Given the description of an element on the screen output the (x, y) to click on. 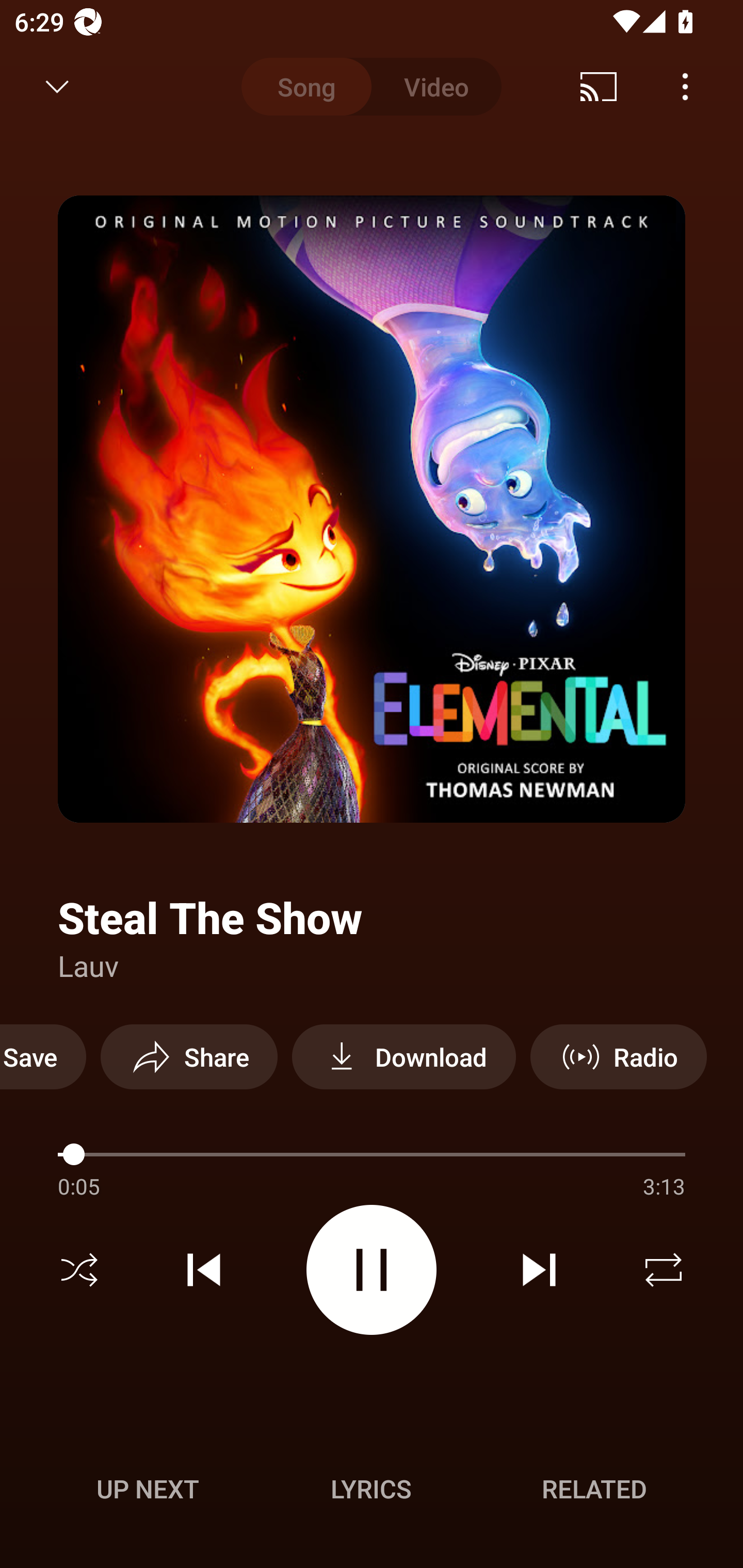
Minimize (57, 86)
Cast. Disconnected (598, 86)
Menu (684, 86)
Save Save to playlist (43, 1056)
Share (188, 1056)
Download (403, 1056)
Radio (618, 1056)
Pause video (371, 1269)
Shuffle off (79, 1269)
Previous track (203, 1269)
Next track (538, 1269)
Repeat off (663, 1269)
Up next UP NEXT Lyrics LYRICS Related RELATED (371, 1491)
Lyrics LYRICS (370, 1488)
Related RELATED (594, 1488)
